Given the description of an element on the screen output the (x, y) to click on. 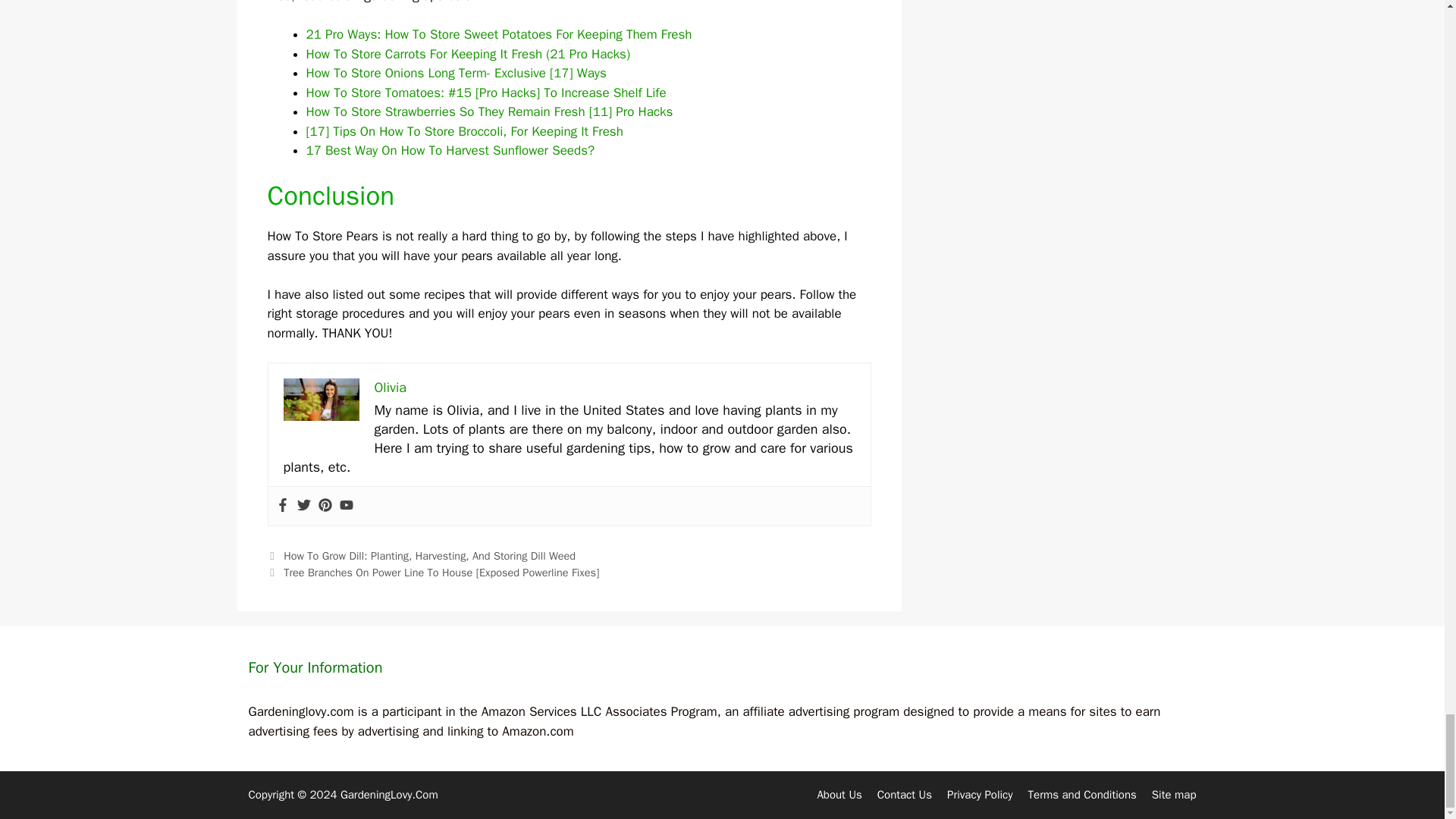
2 min (321, 399)
